Given the description of an element on the screen output the (x, y) to click on. 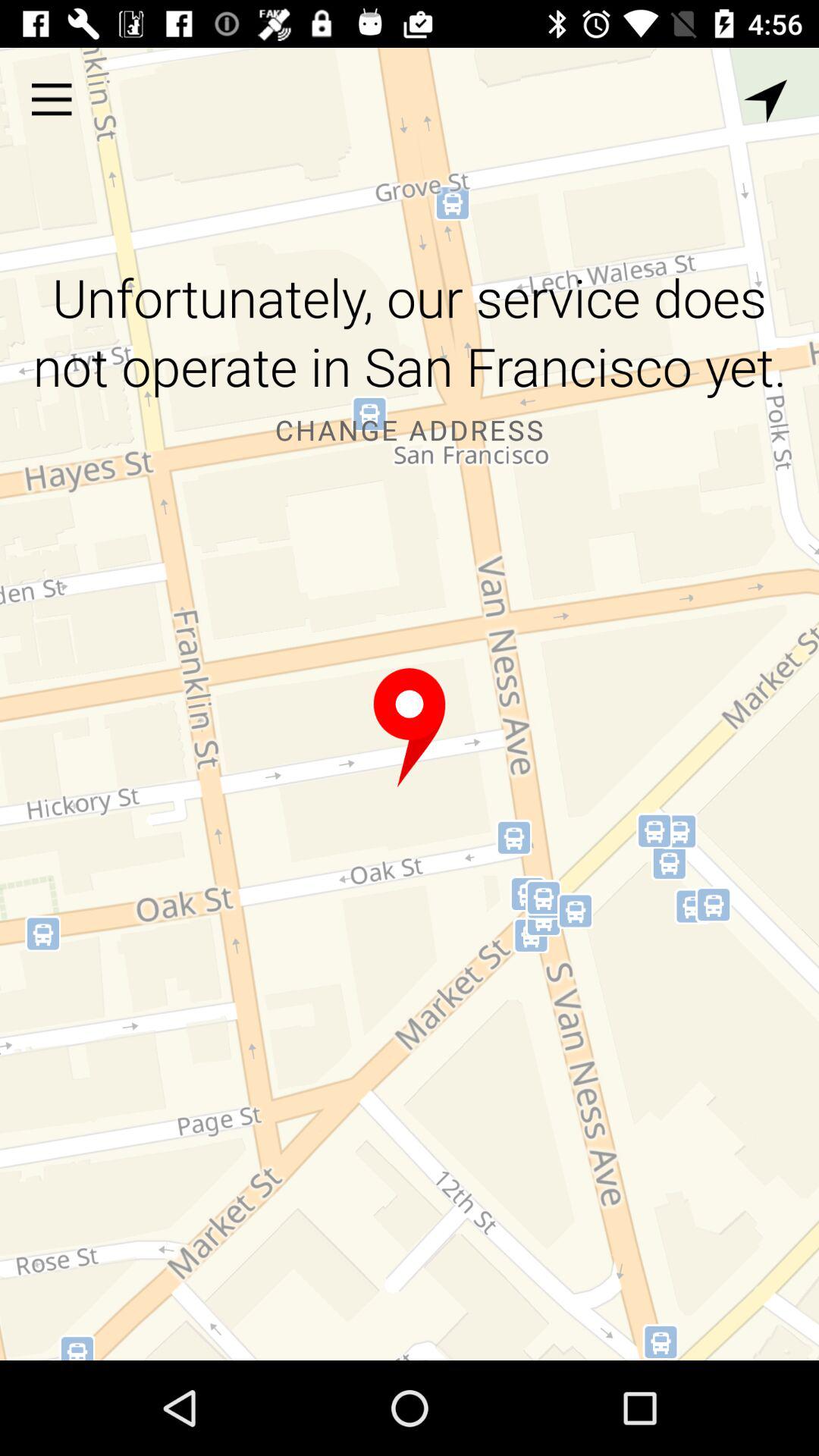
turn on icon at the top right corner (765, 100)
